Given the description of an element on the screen output the (x, y) to click on. 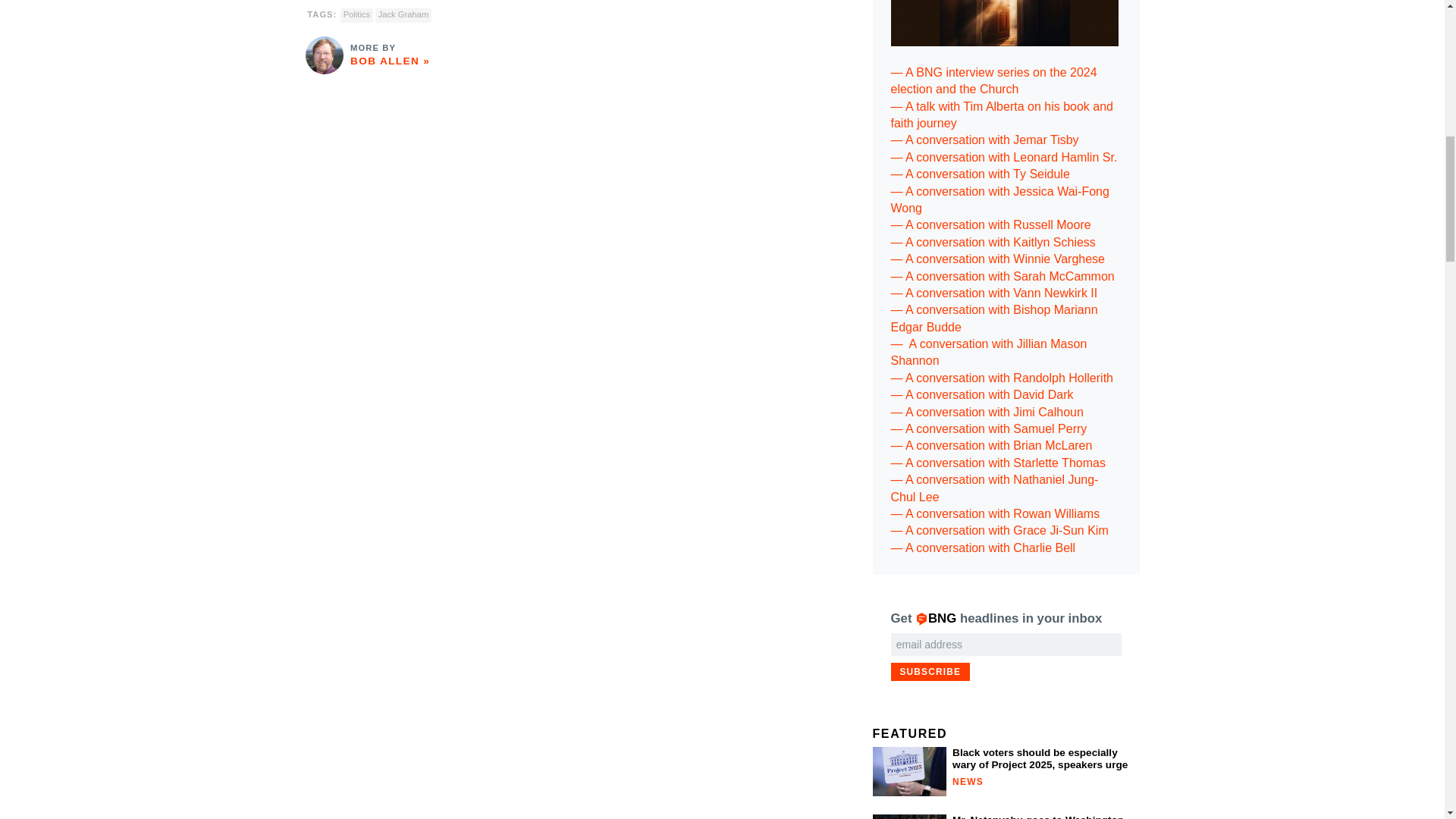
Subscribe (929, 671)
